Given the description of an element on the screen output the (x, y) to click on. 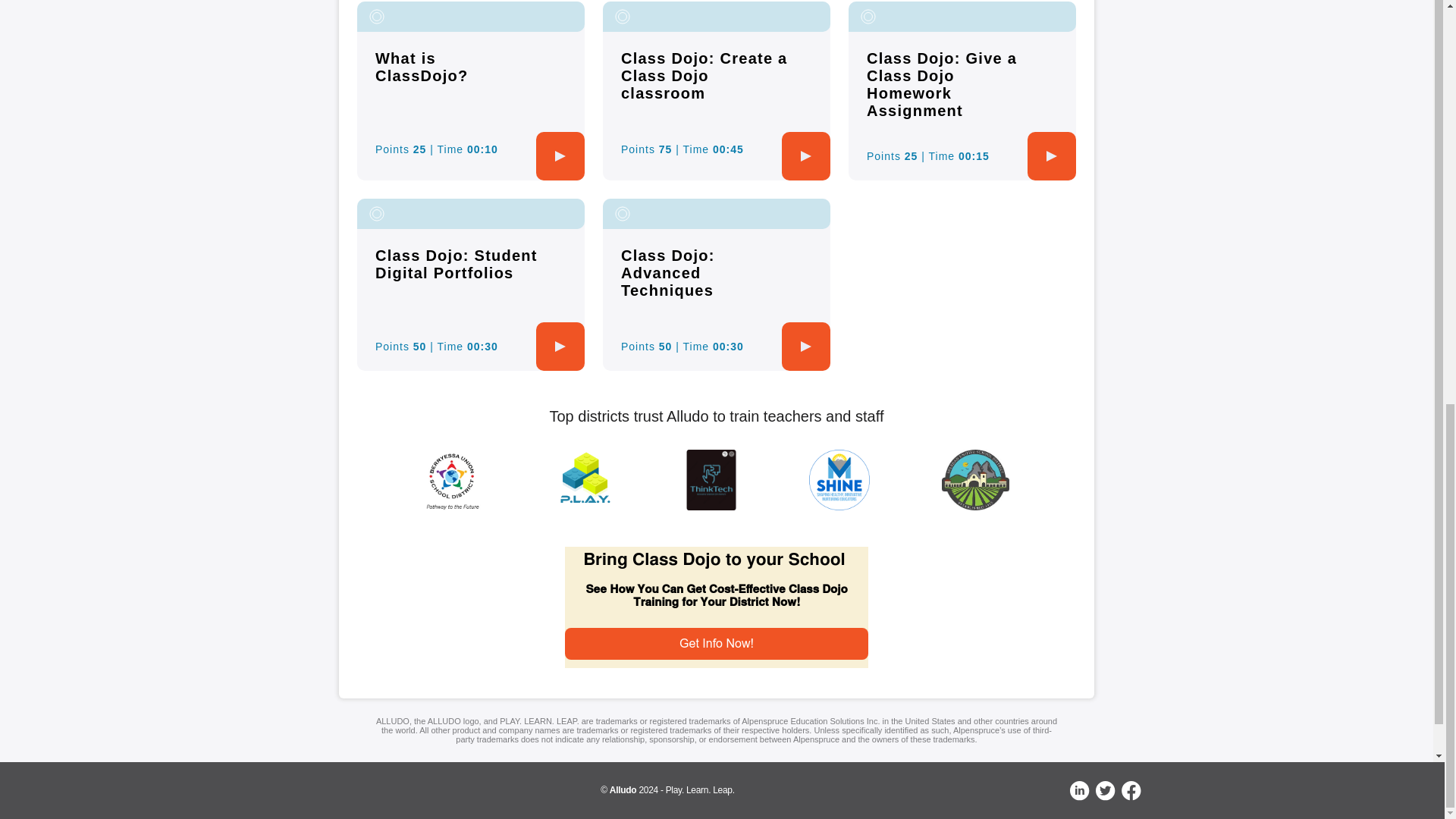
Class Dojo: Advanced Techniques (667, 272)
Class Dojo: Student Digital Portfolios (456, 264)
Class Dojo: Create a Class Dojo classroom (704, 75)
Alludo (623, 789)
What is ClassDojo? (421, 66)
Class Dojo: Give a Class Dojo Homework Assignment (941, 83)
